Given the description of an element on the screen output the (x, y) to click on. 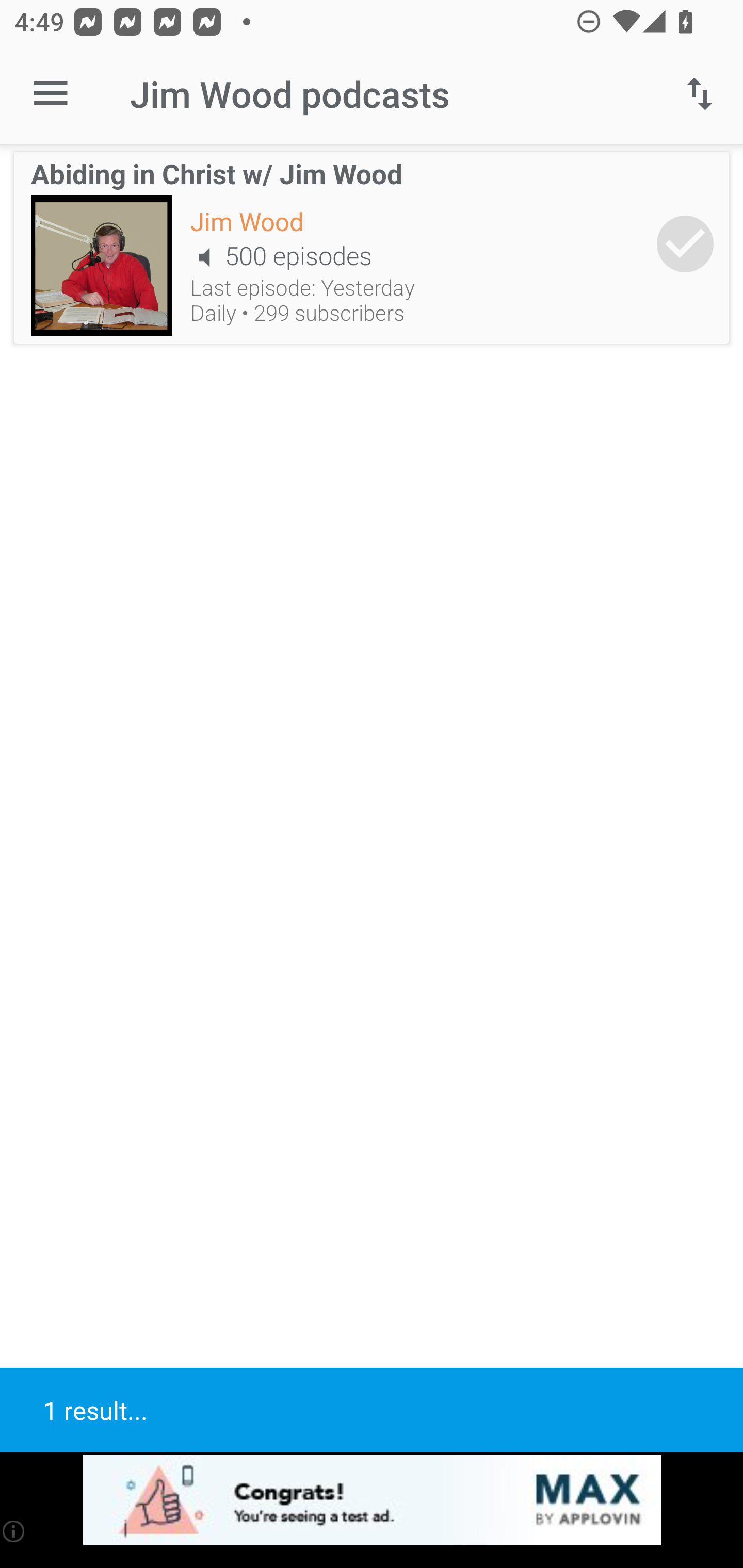
Open navigation sidebar (50, 93)
Sort (699, 93)
Add (684, 243)
app-monetization (371, 1500)
(i) (14, 1531)
